Given the description of an element on the screen output the (x, y) to click on. 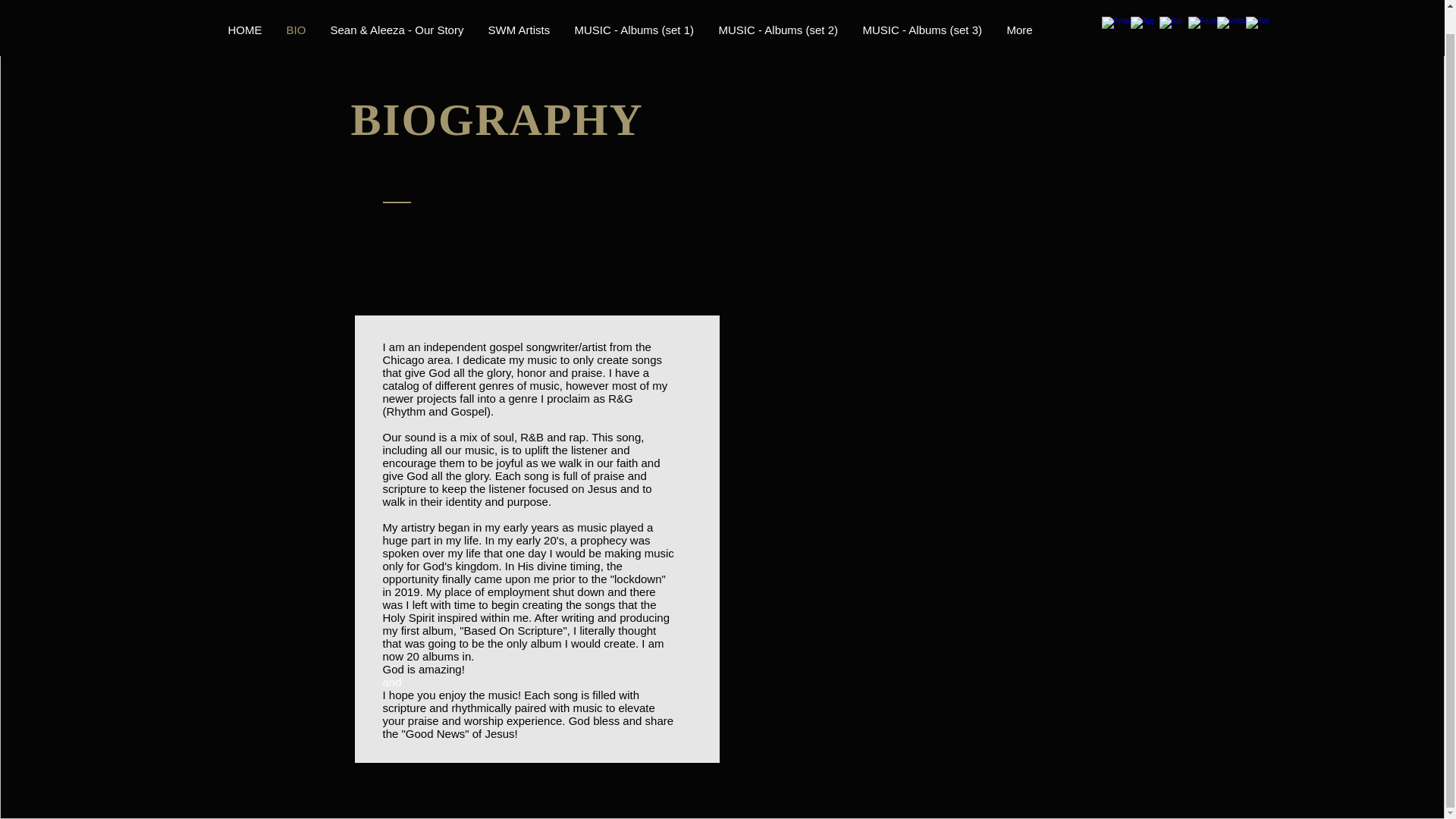
BIO (296, 11)
HOME (244, 11)
SWM Artists (519, 11)
